Given the description of an element on the screen output the (x, y) to click on. 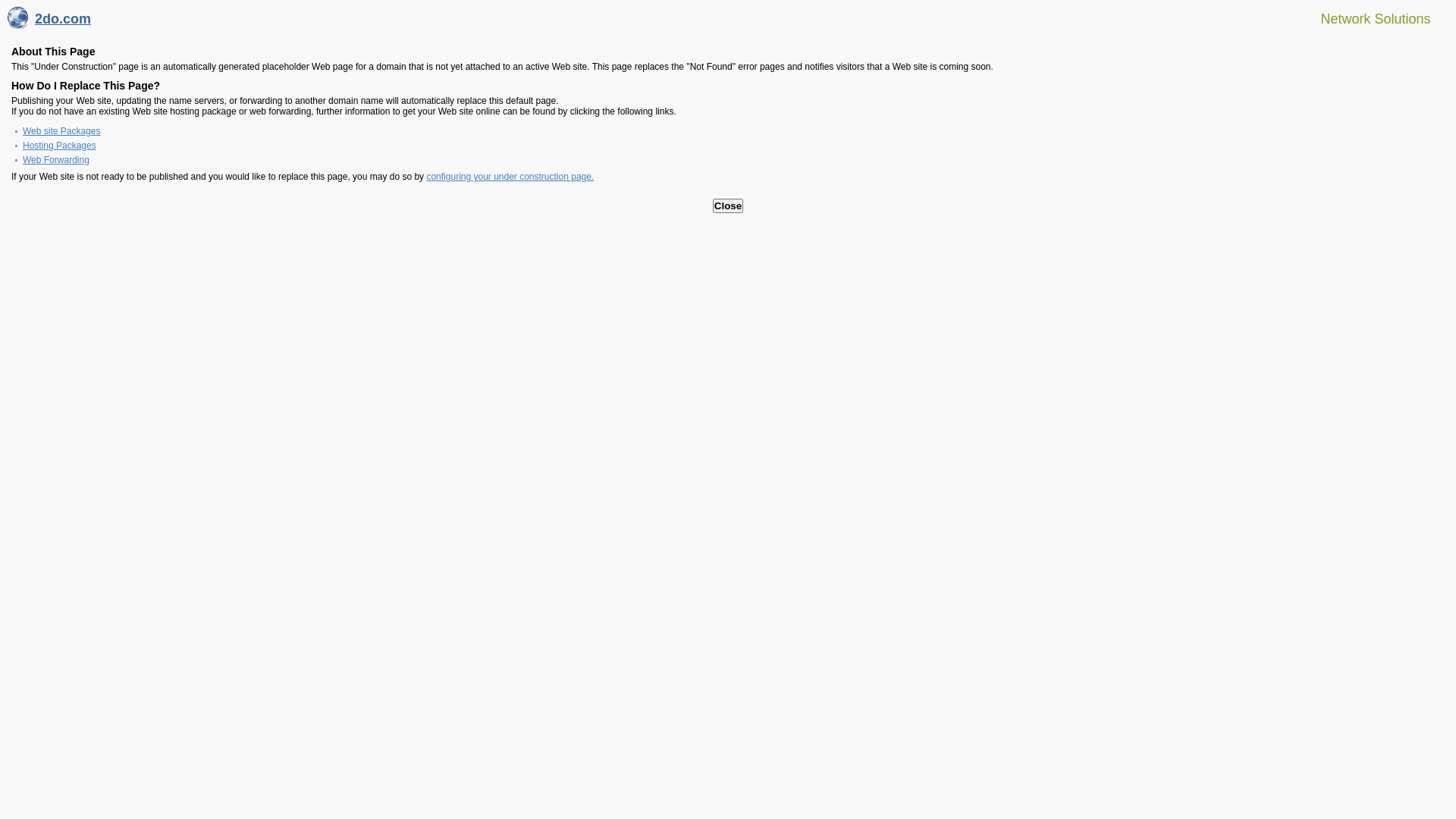
configuring your under construction page. Element type: text (509, 176)
2do.com Element type: text (49, 21)
Network Solutions Element type: text (1366, 17)
Close Element type: text (727, 205)
